Given the description of an element on the screen output the (x, y) to click on. 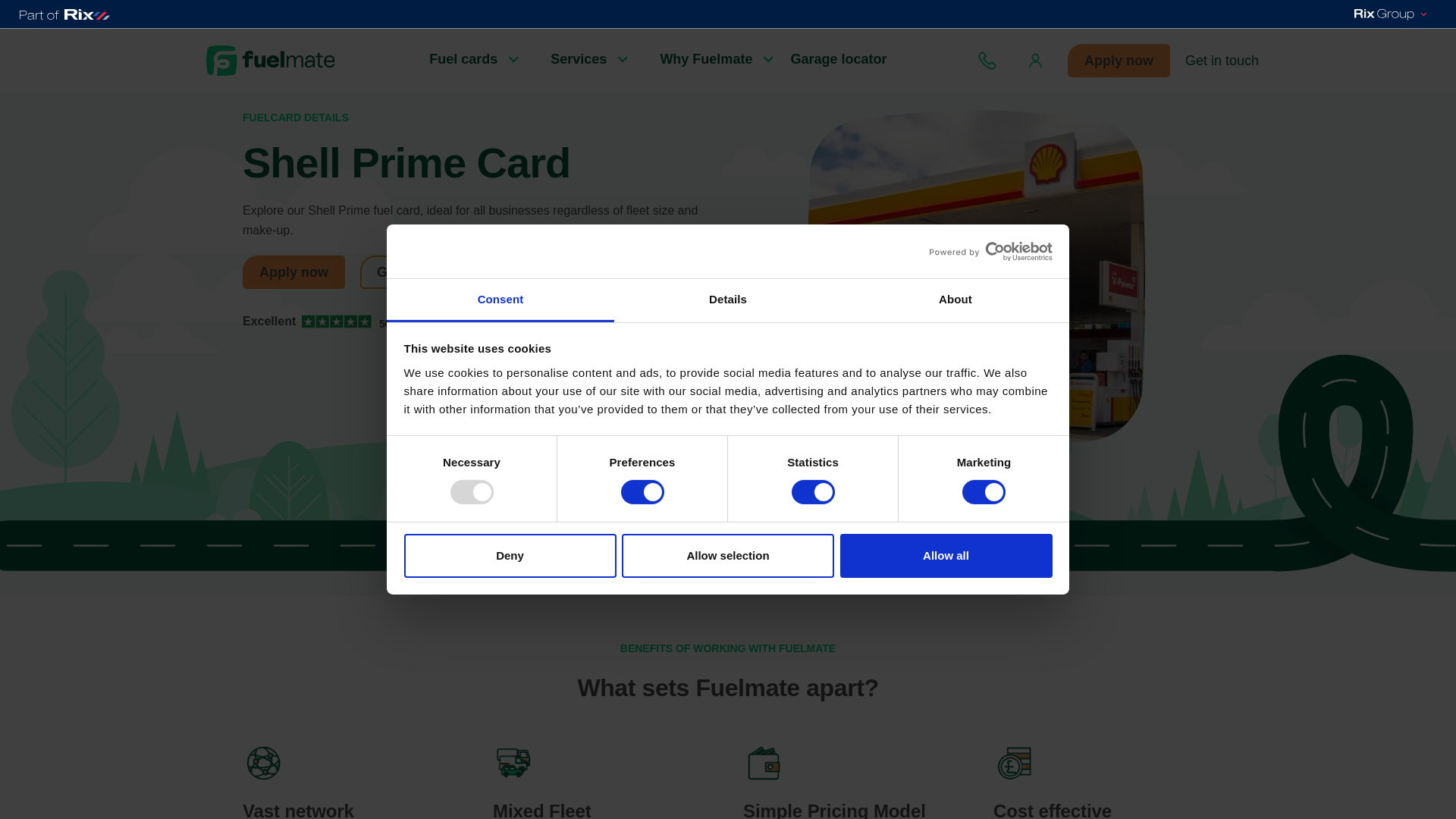
Details (727, 300)
Consent (500, 300)
About (954, 300)
